Given the description of an element on the screen output the (x, y) to click on. 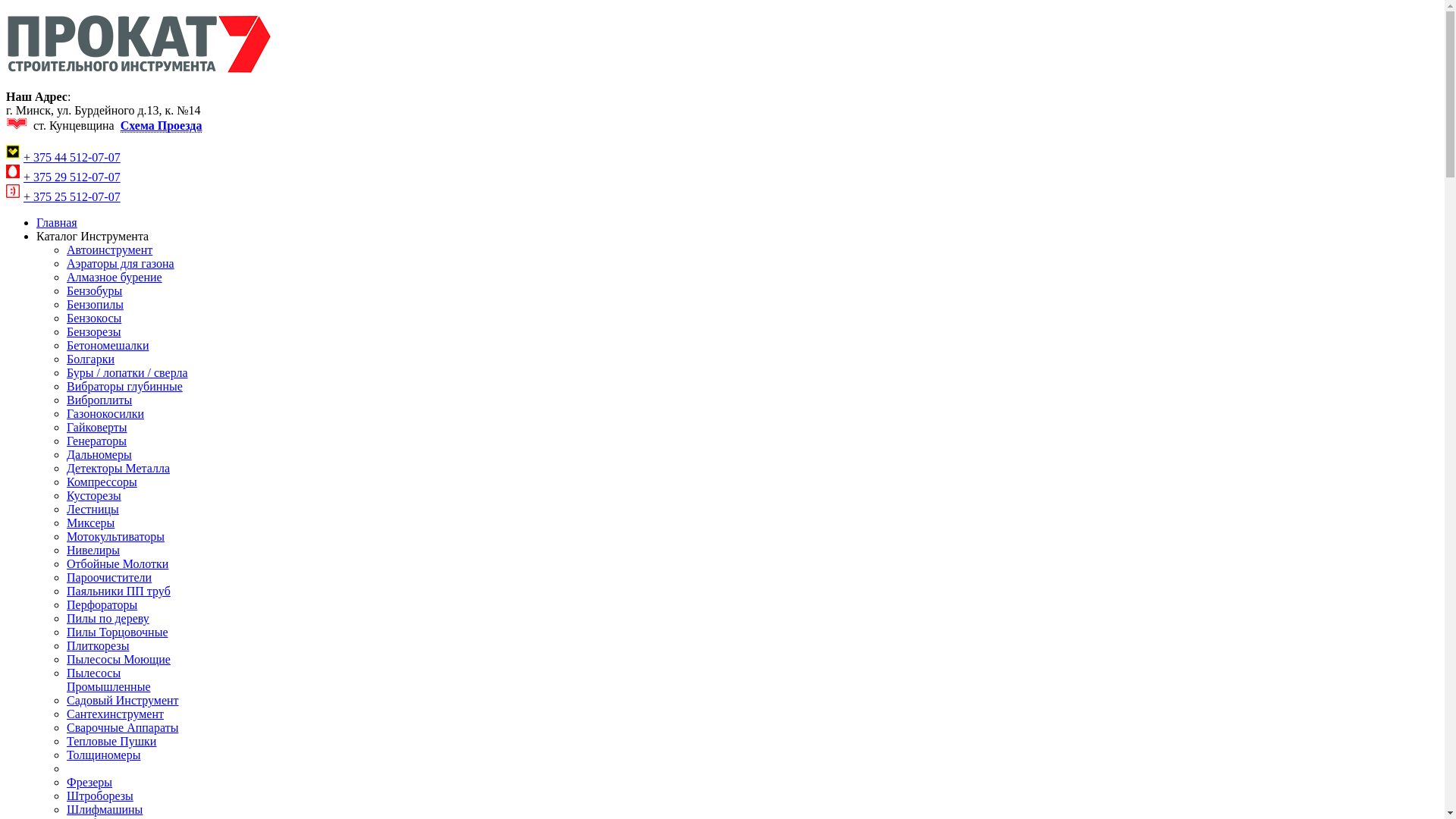
+ 375 44 512-07-07 Element type: text (71, 156)
+ 375 25 512-07-07 Element type: text (71, 196)
+ 375 29 512-07-07 Element type: text (71, 176)
